Given the description of an element on the screen output the (x, y) to click on. 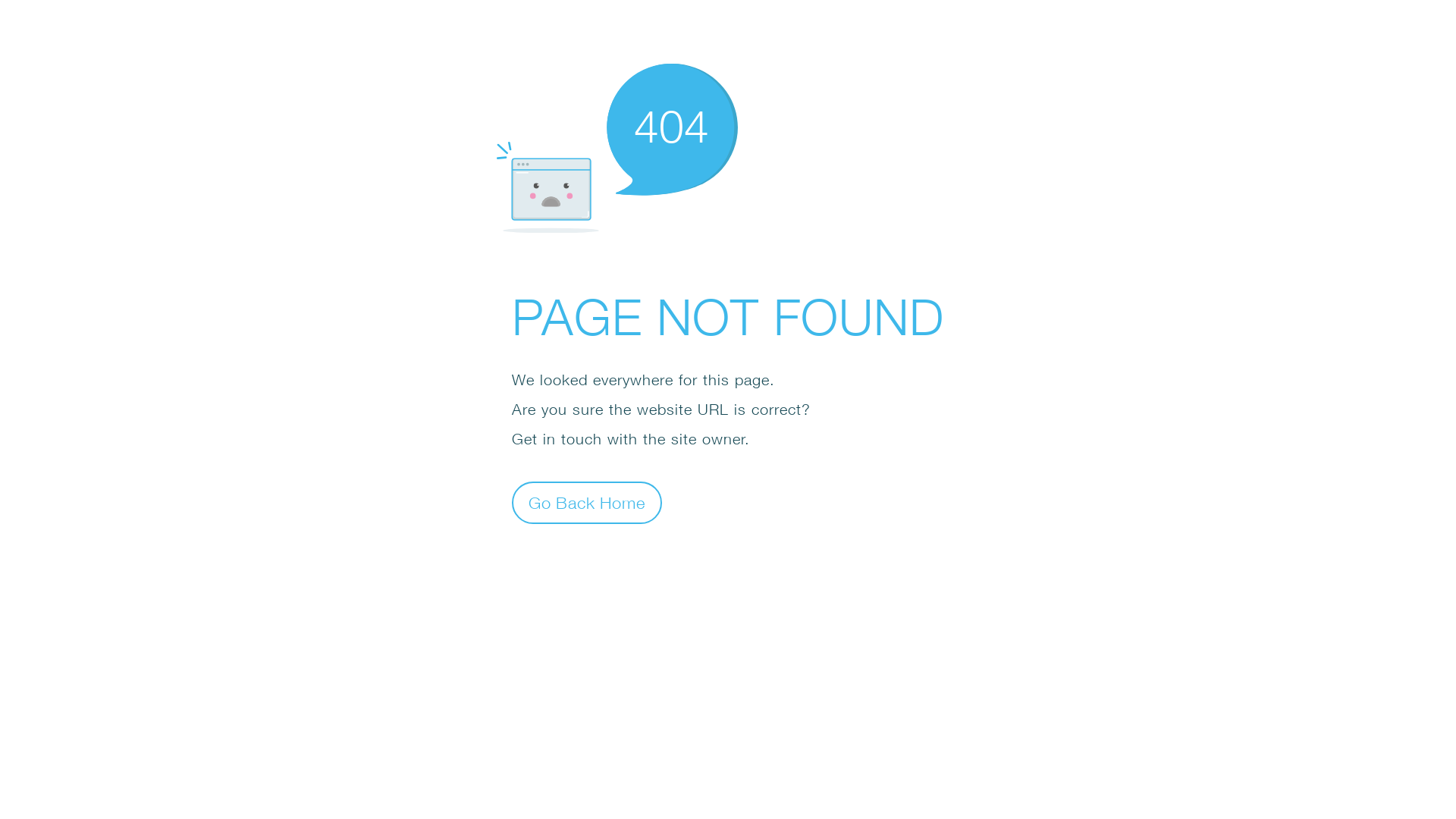
Go Back Home Element type: text (586, 502)
